Given the description of an element on the screen output the (x, y) to click on. 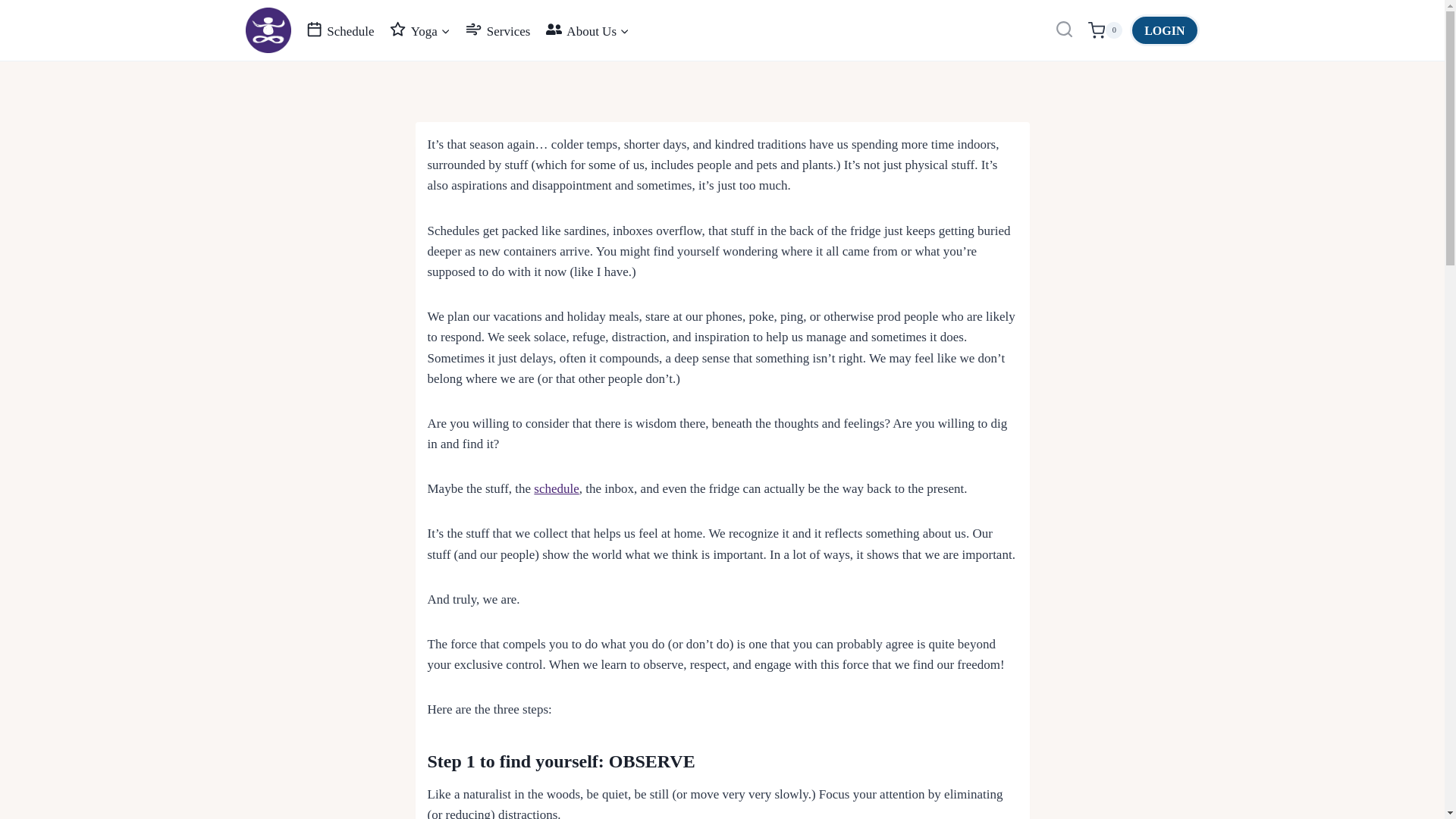
About Us (587, 29)
schedule (556, 488)
LOGIN (1163, 30)
Yoga (419, 29)
0 (1104, 30)
Schedule (339, 29)
Services (498, 29)
